Given the description of an element on the screen output the (x, y) to click on. 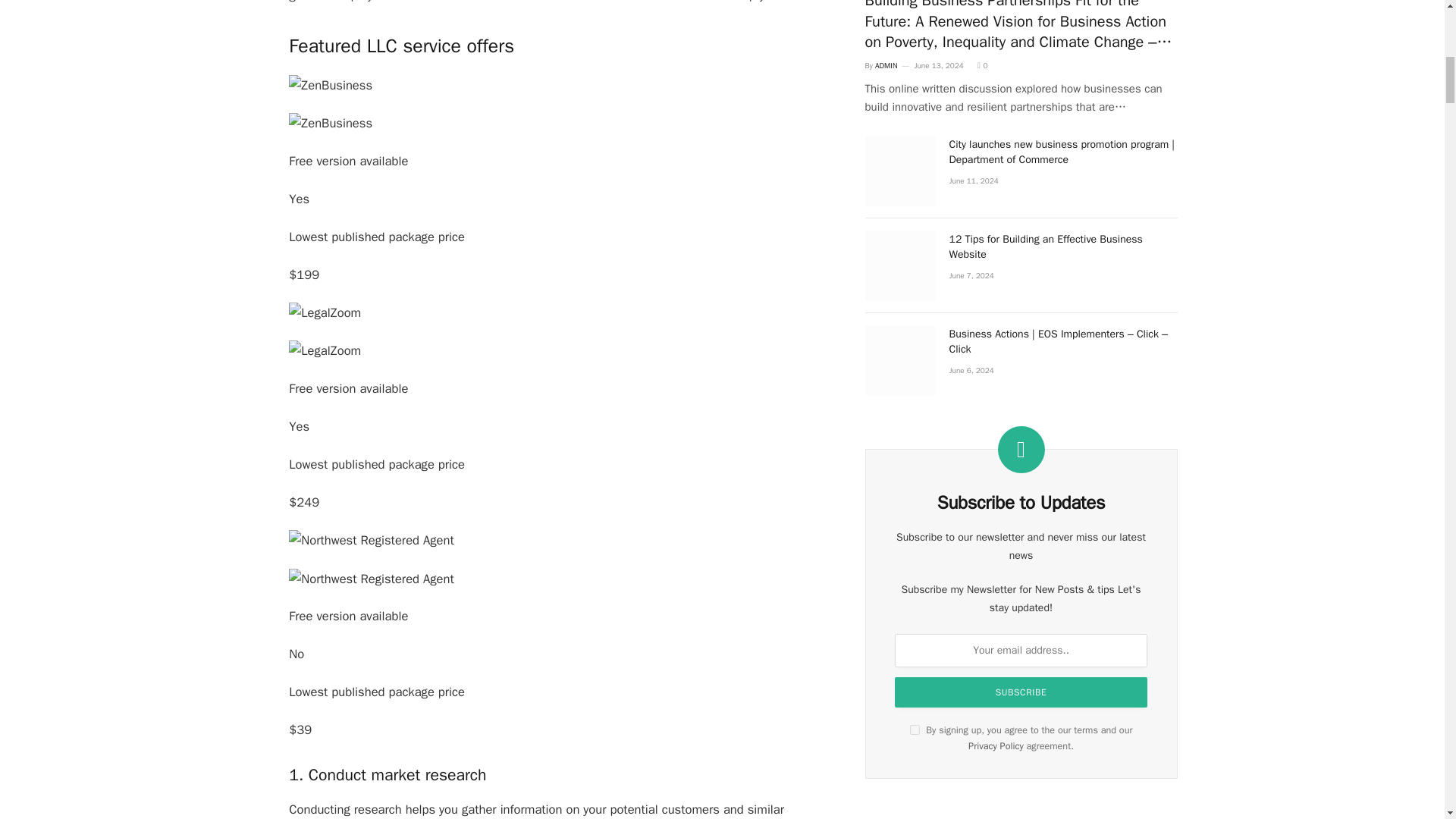
Subscribe (1021, 692)
on (915, 729)
